Given the description of an element on the screen output the (x, y) to click on. 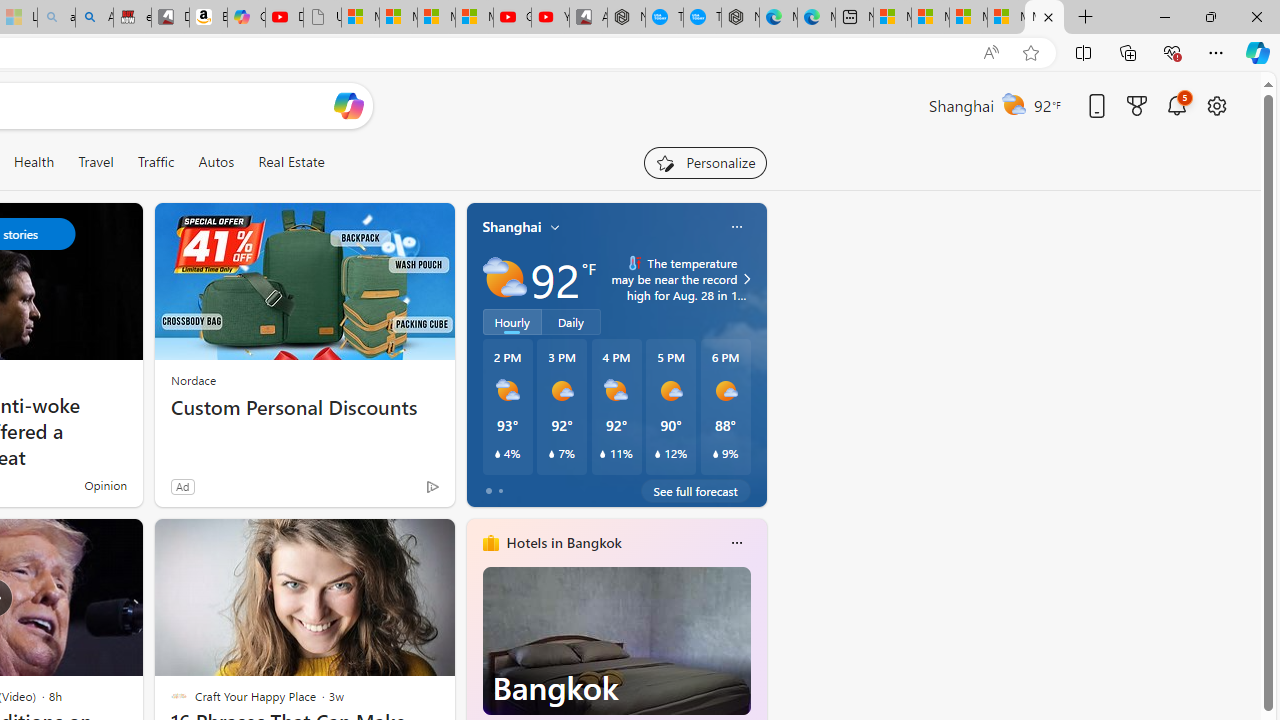
tab-1 (500, 490)
YouTube Kids - An App Created for Kids to Explore Content (550, 17)
previous (476, 670)
